Given the description of an element on the screen output the (x, y) to click on. 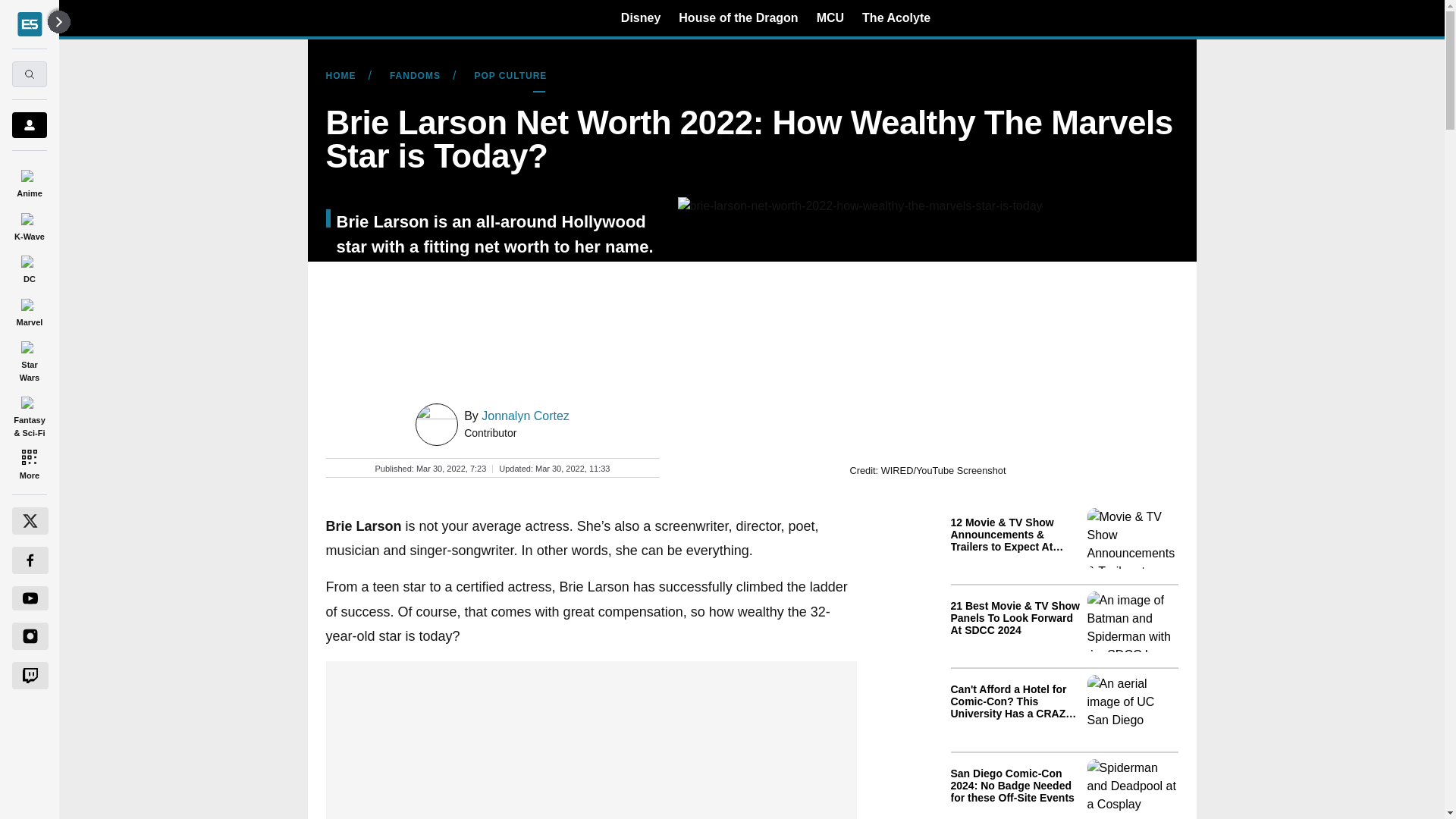
K-Wave (28, 224)
Disney (641, 18)
House of the Dragon (737, 18)
More (28, 463)
The Acolyte (895, 18)
MCU (830, 18)
Anime (28, 180)
DC (28, 266)
Marvel (28, 309)
